Given the description of an element on the screen output the (x, y) to click on. 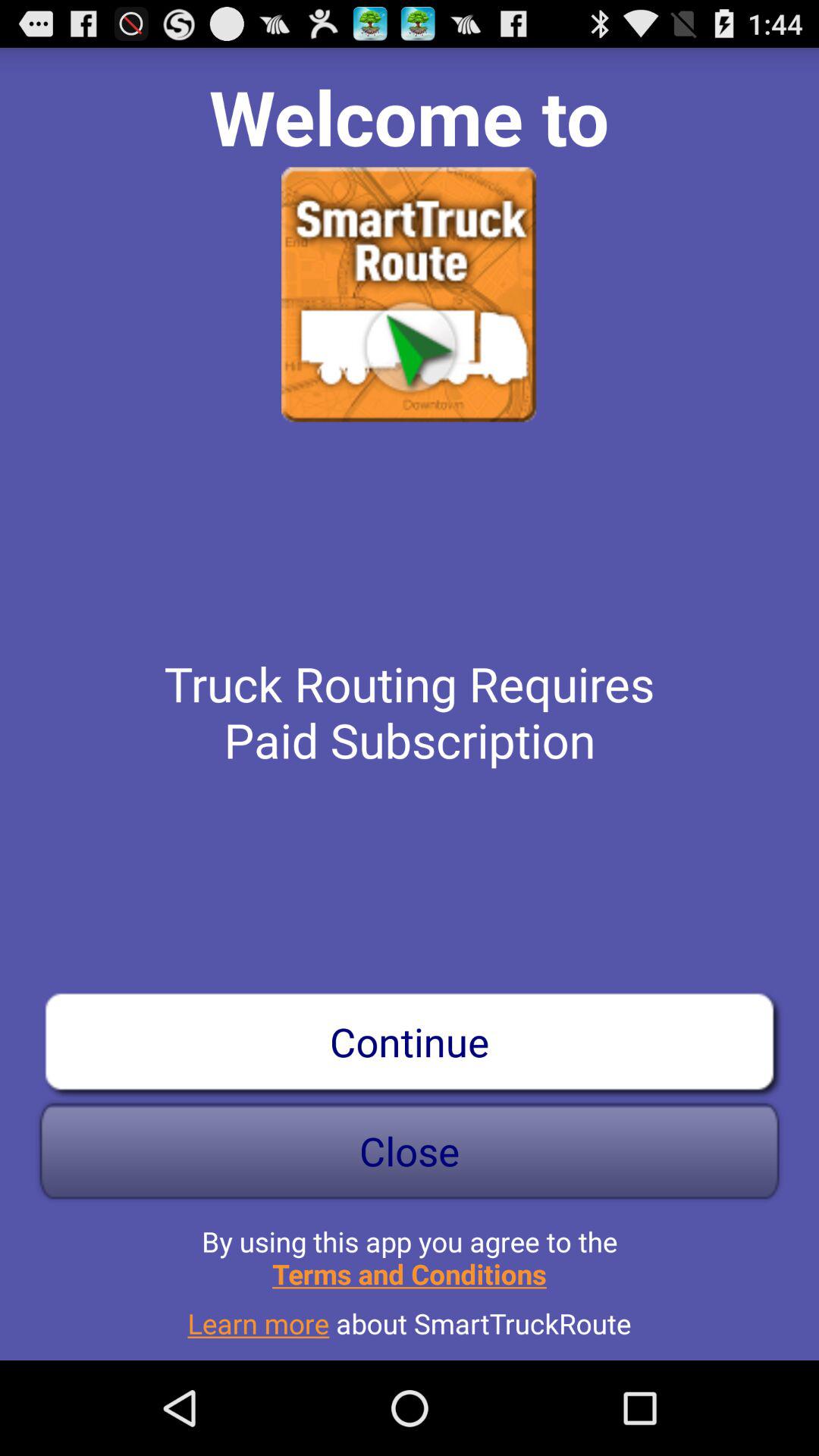
select the icon below the continue (409, 1150)
